Given the description of an element on the screen output the (x, y) to click on. 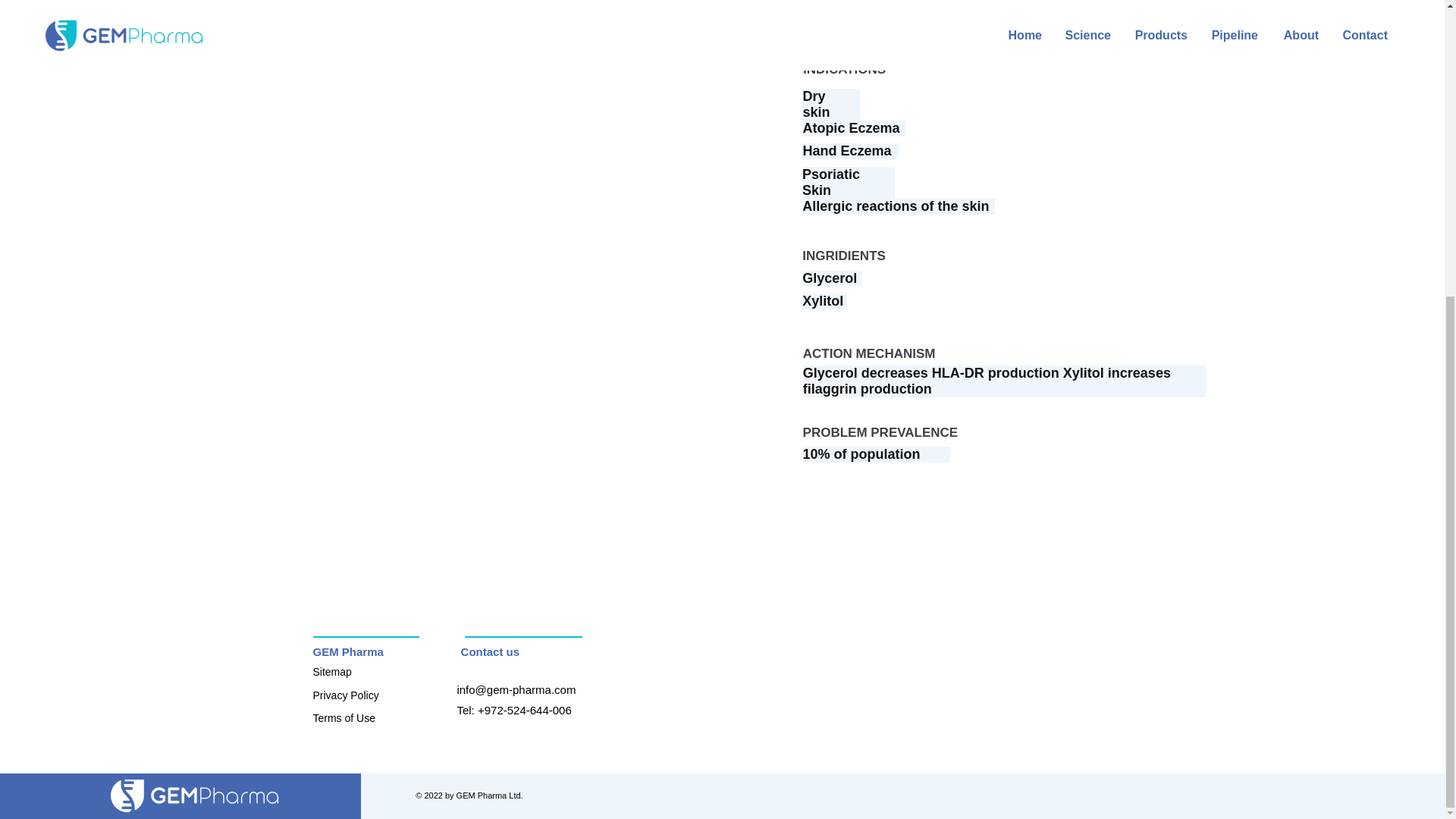
Terms of Use (343, 717)
Sitemap (331, 671)
Privacy Policy (345, 695)
